Given the description of an element on the screen output the (x, y) to click on. 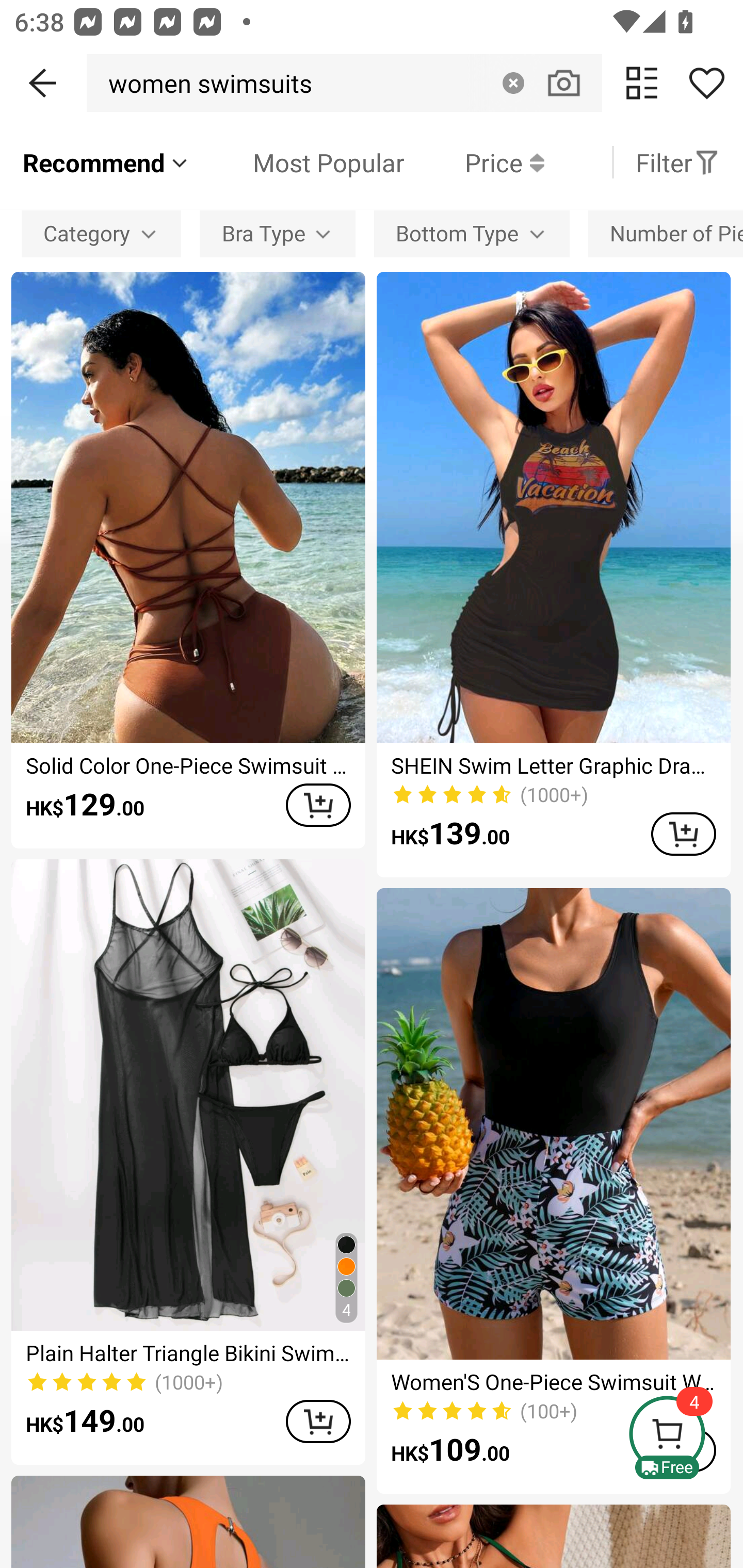
women swimsuits Clear (343, 82)
women swimsuits (204, 82)
Clear (513, 82)
change view (641, 82)
Share (706, 82)
Recommend (106, 162)
Most Popular (297, 162)
Price (474, 162)
Filter (677, 162)
Category (101, 233)
Bra Type (277, 233)
Bottom Type (471, 233)
Number of Pieces (665, 233)
ADD TO CART (318, 805)
ADD TO CART (683, 834)
Free (685, 1436)
ADD TO CART (318, 1421)
